Given the description of an element on the screen output the (x, y) to click on. 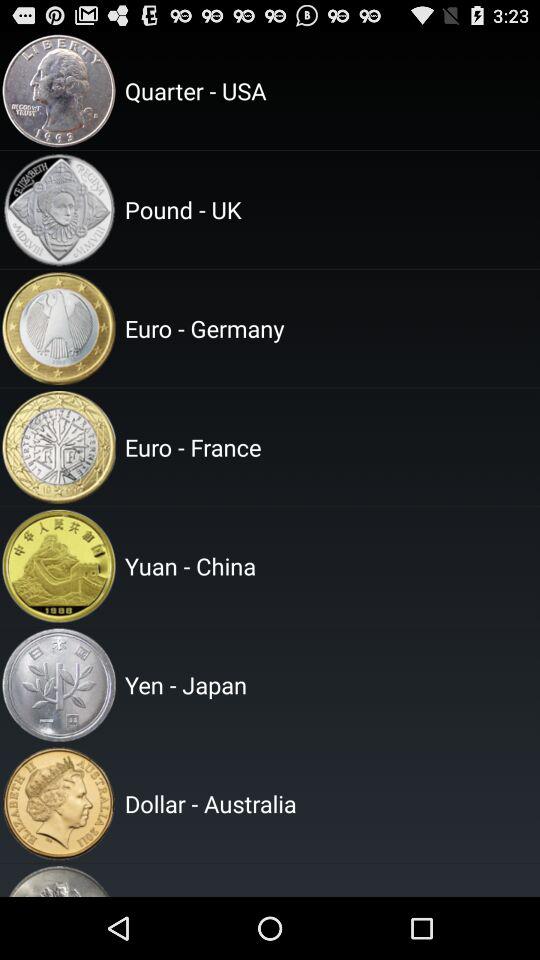
scroll to the pound - uk item (329, 209)
